Given the description of an element on the screen output the (x, y) to click on. 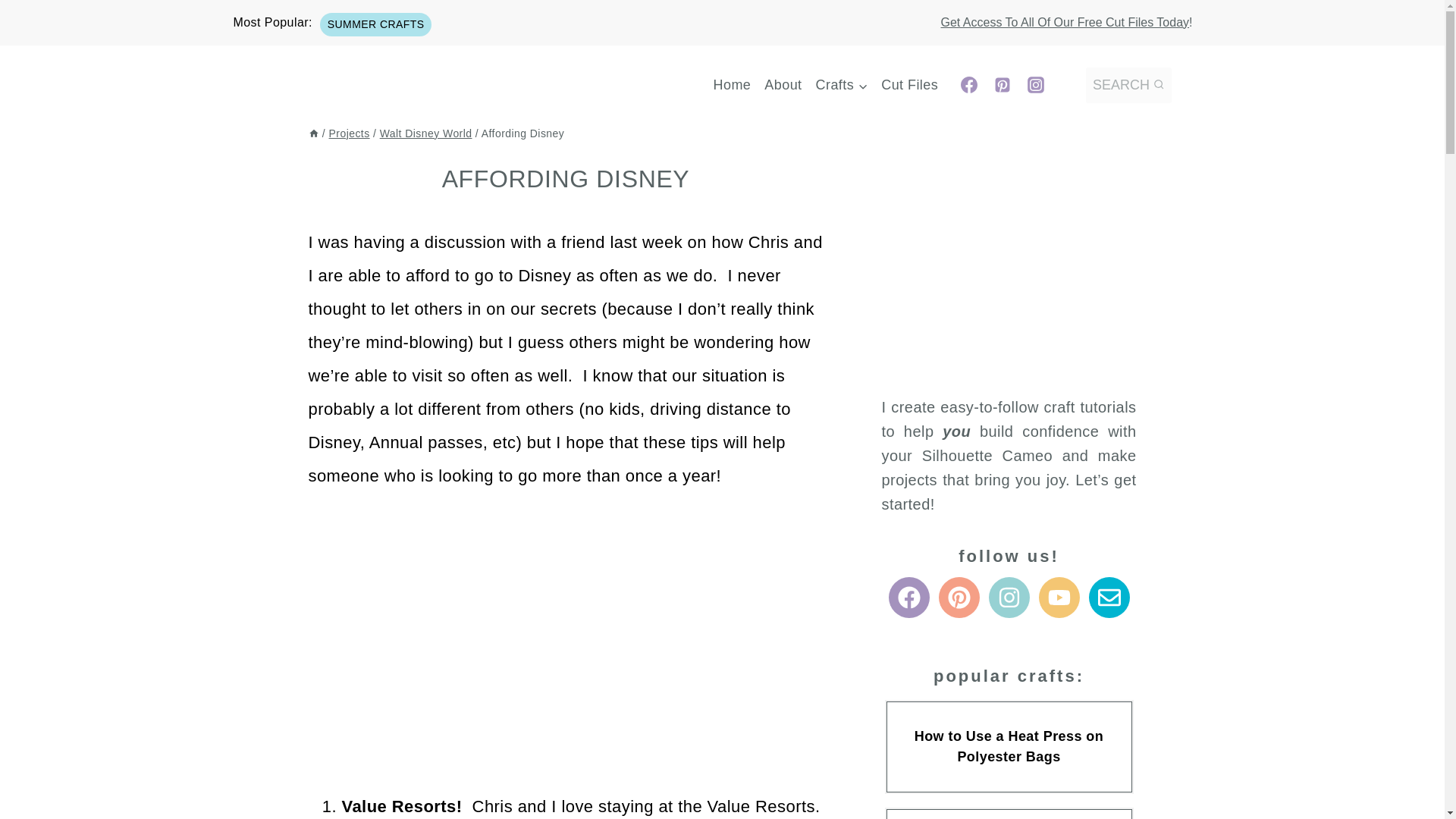
Crafts (842, 85)
SUMMER CRAFTS (375, 24)
Projects (349, 133)
SEARCH (1128, 85)
Get Access To All Of Our Free Cut Files Today (1064, 21)
Walt Disney World (425, 133)
Cut Files (909, 85)
